Given the description of an element on the screen output the (x, y) to click on. 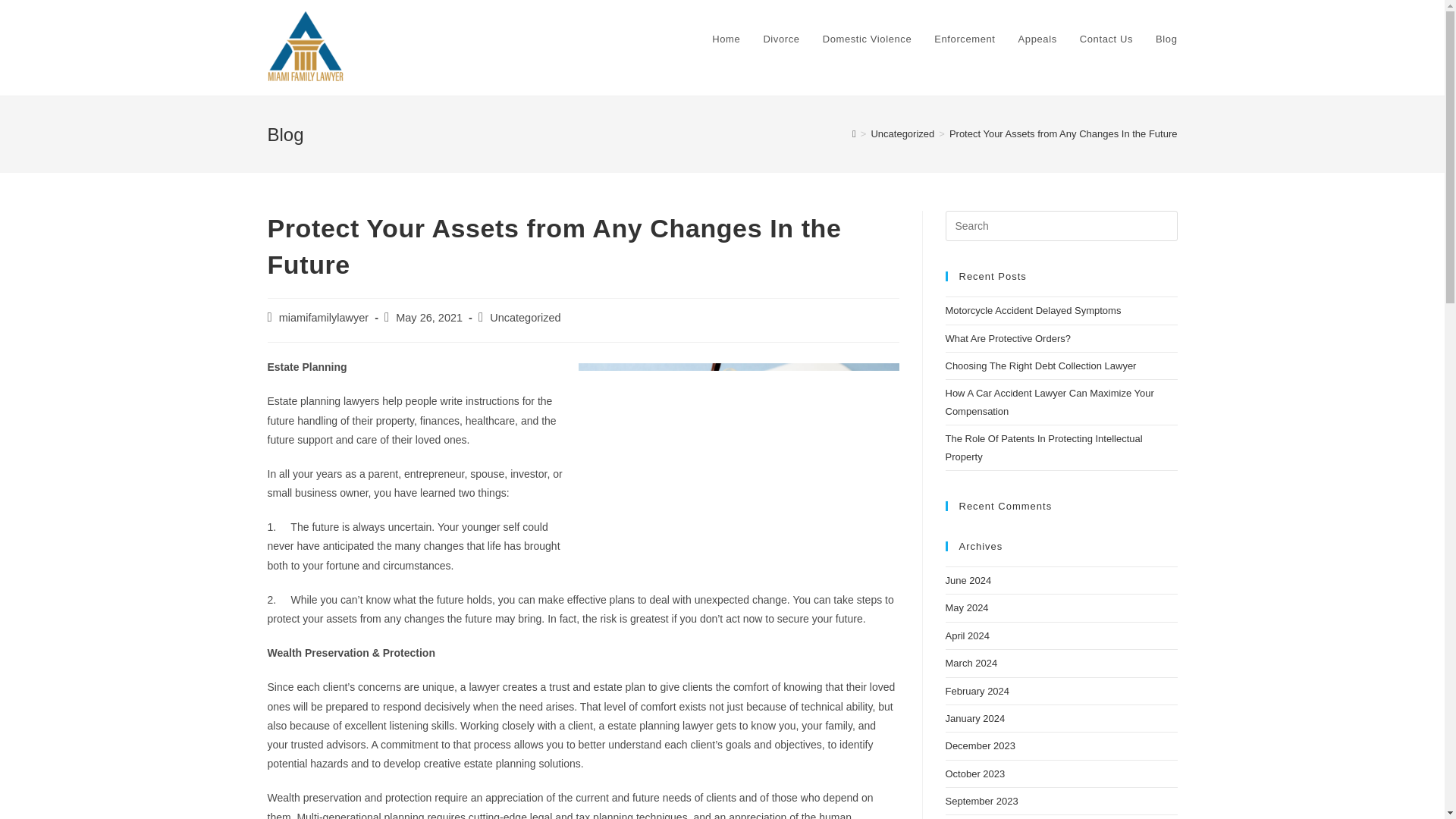
January 2024 (974, 717)
What Are Protective Orders? (1007, 337)
How A Car Accident Lawyer Can Maximize Your Compensation (1048, 401)
Posts by miamifamilylawyer (323, 317)
April 2024 (967, 635)
Appeals (1037, 39)
Domestic Violence (866, 39)
Uncategorized (524, 317)
Divorce (780, 39)
May 2024 (966, 607)
The Role Of Patents In Protecting Intellectual Property (1042, 447)
June 2024 (967, 580)
Choosing The Right Debt Collection Lawyer (1039, 365)
October 2023 (974, 773)
September 2023 (980, 800)
